Given the description of an element on the screen output the (x, y) to click on. 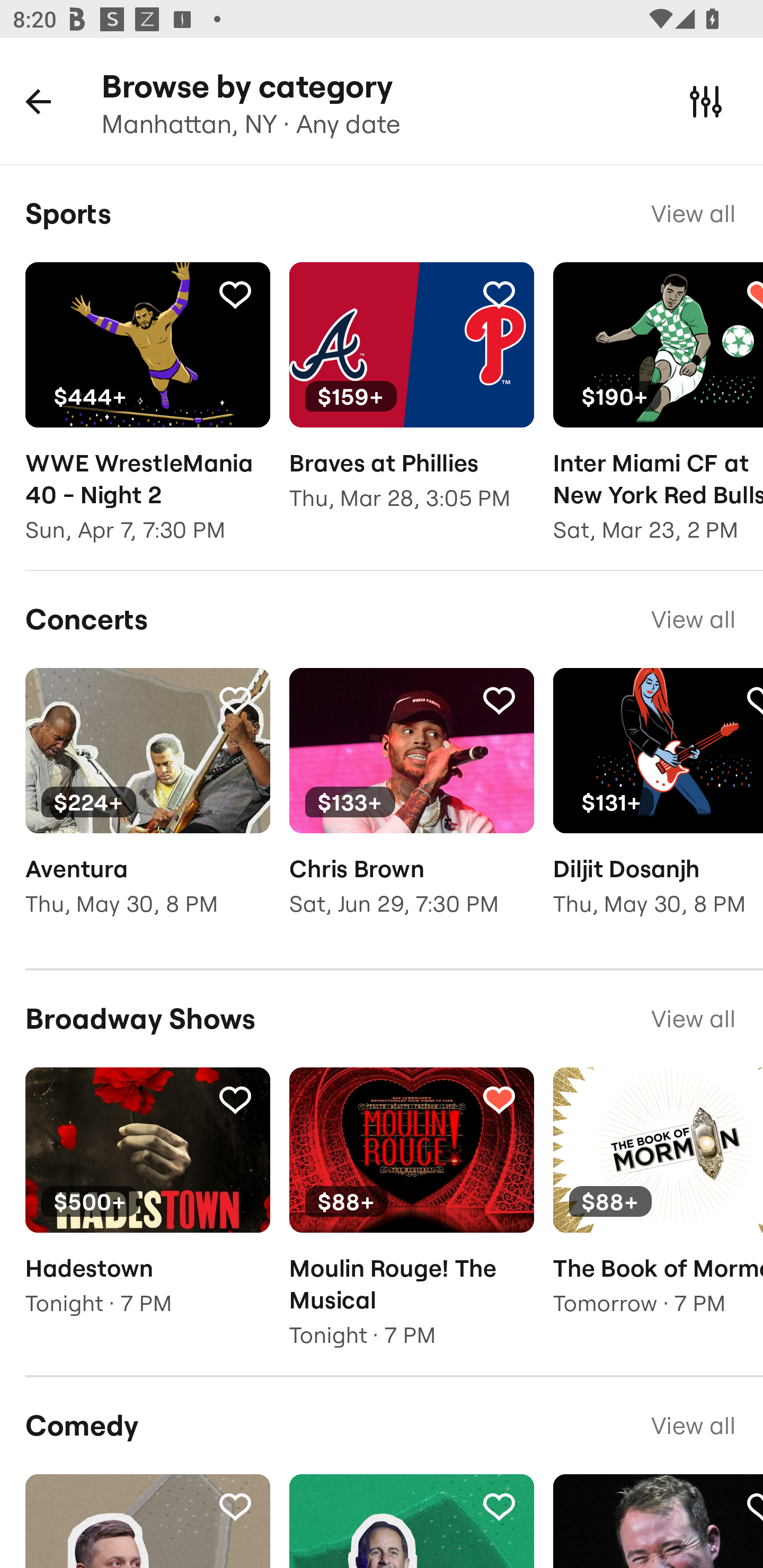
Back (38, 100)
Filters (705, 100)
View all (693, 212)
Tracking (234, 293)
Tracking (498, 293)
View all (693, 618)
Tracking $224+ Aventura Thu, May 30, 8 PM (147, 804)
Tracking $133+ Chris Brown Sat, Jun 29, 7:30 PM (411, 804)
Tracking $131+ Diljit Dosanjh Thu, May 30, 8 PM (658, 804)
Tracking (234, 699)
Tracking (498, 699)
View all (693, 1018)
Tracking $500+ Hadestown Tonight · 7 PM (147, 1204)
Tracking $88+ The Book of Mormon Tomorrow · 7 PM (658, 1204)
Tracking (234, 1098)
Tracking (498, 1098)
View all (693, 1424)
Tracking (234, 1505)
Tracking (498, 1505)
